Given the description of an element on the screen output the (x, y) to click on. 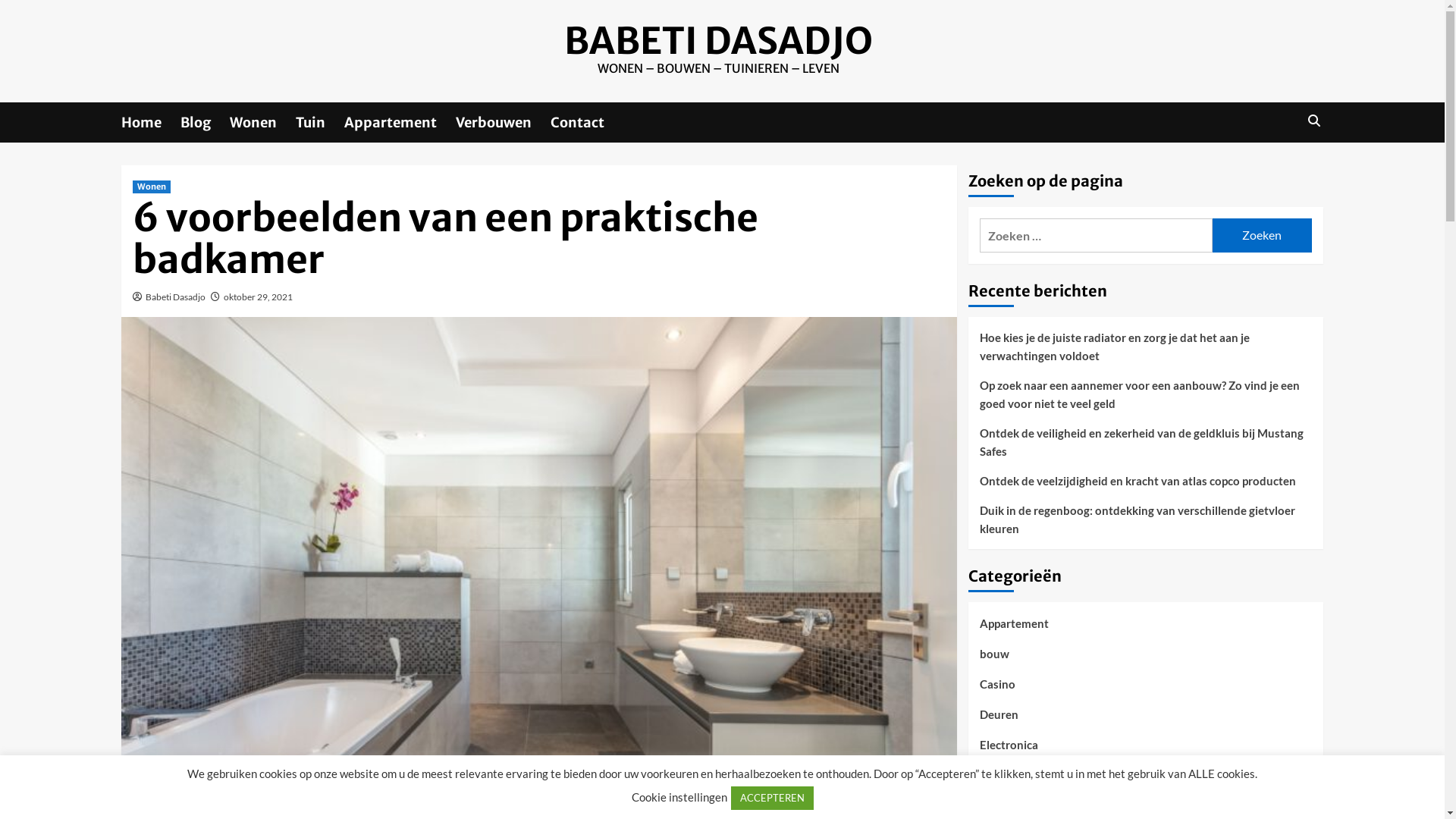
Appartement Element type: text (1013, 628)
BABETI DASADJO Element type: text (718, 40)
Ontdek de veelzijdigheid en kracht van atlas copco producten Element type: text (1145, 486)
ACCEPTEREN Element type: text (772, 797)
Verbouwen Element type: text (502, 122)
Casino Element type: text (997, 689)
Wonen Element type: text (151, 186)
Search Element type: hover (1313, 120)
Babeti Dasadjo Element type: text (175, 296)
oktober 29, 2021 Element type: text (257, 296)
Financieel Element type: text (1005, 780)
Home Element type: text (150, 122)
Contact Element type: text (586, 122)
Cookie instellingen Element type: text (678, 796)
Zoeken Element type: text (1278, 167)
Deuren Element type: text (998, 719)
Zoeken Element type: text (1261, 235)
Blog Element type: text (204, 122)
Appartement Element type: text (399, 122)
bouw Element type: text (994, 659)
Wonen Element type: text (262, 122)
Tuin Element type: text (319, 122)
Electronica Element type: text (1008, 750)
